Given the description of an element on the screen output the (x, y) to click on. 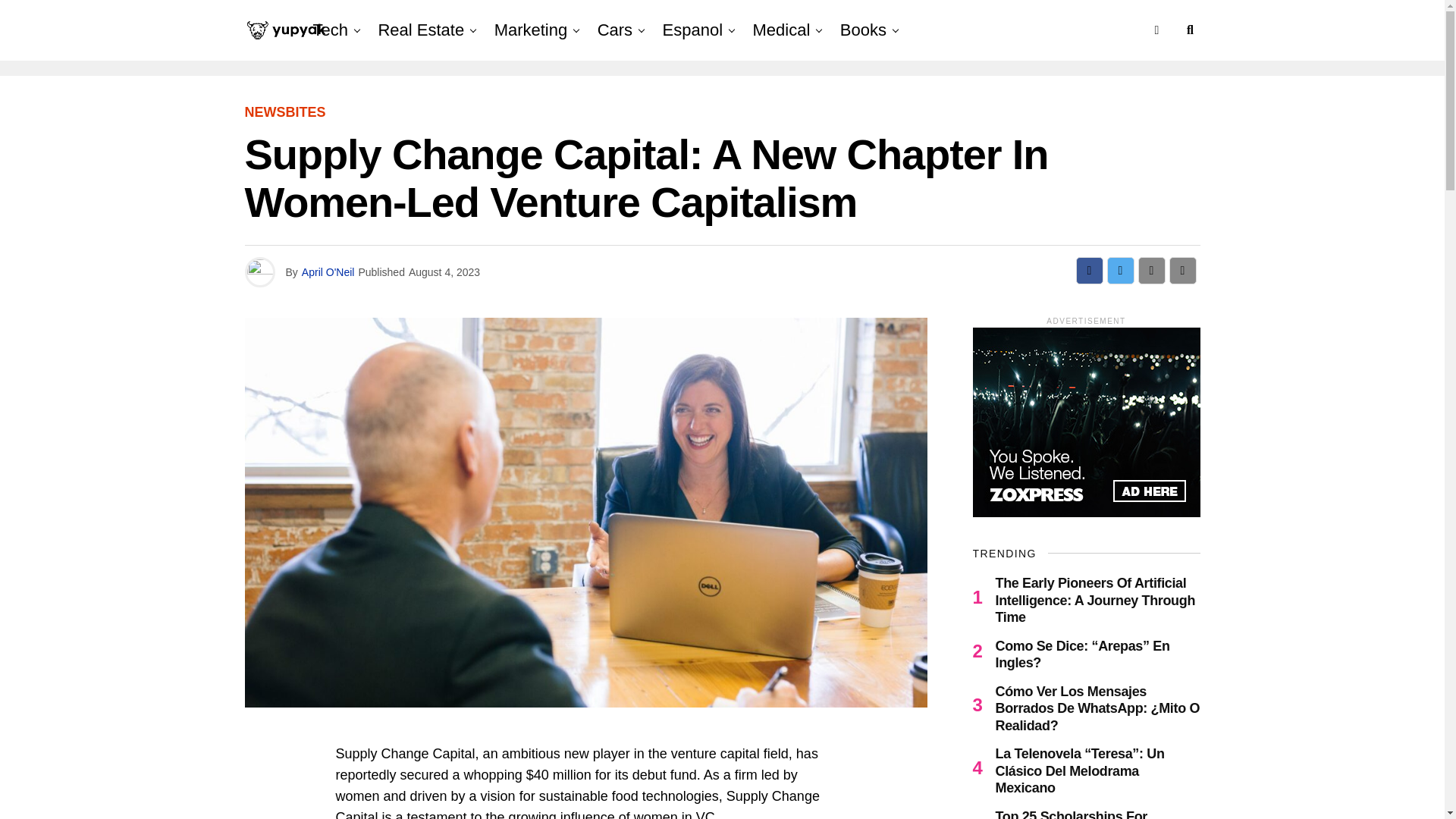
Posts by April O'Neil (328, 272)
Espanol (692, 30)
Real Estate (420, 30)
Share on Facebook (1088, 270)
Marketing (530, 30)
Tweet This Post (1120, 270)
